Given the description of an element on the screen output the (x, y) to click on. 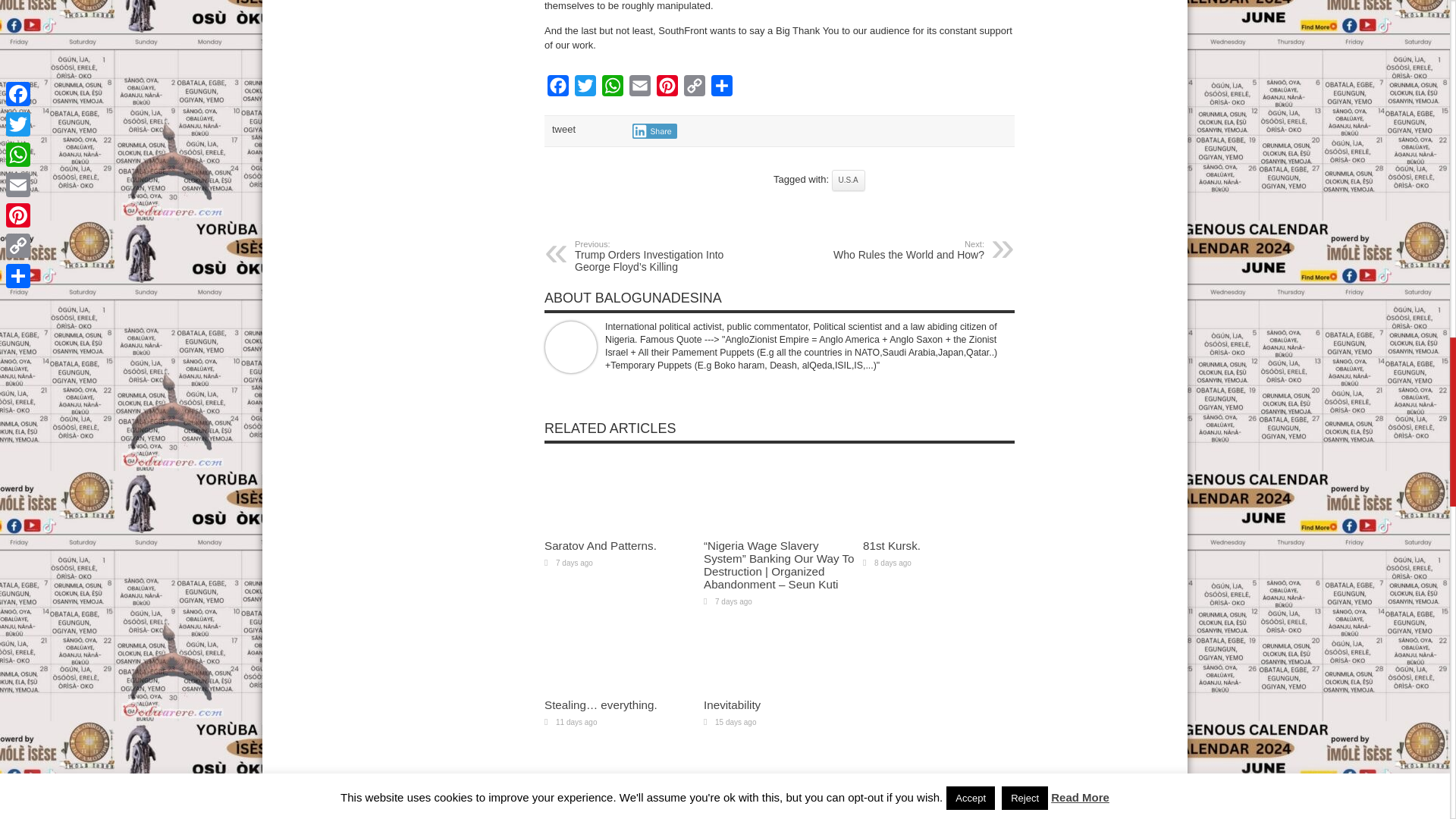
Email (639, 89)
Pinterest (667, 89)
Twitter (585, 89)
WhatsApp (612, 89)
Permalink to Saratov And Patterns. (600, 545)
Copy Link (694, 89)
Permalink to Saratov And Patterns. (619, 527)
Facebook (558, 89)
